Given the description of an element on the screen output the (x, y) to click on. 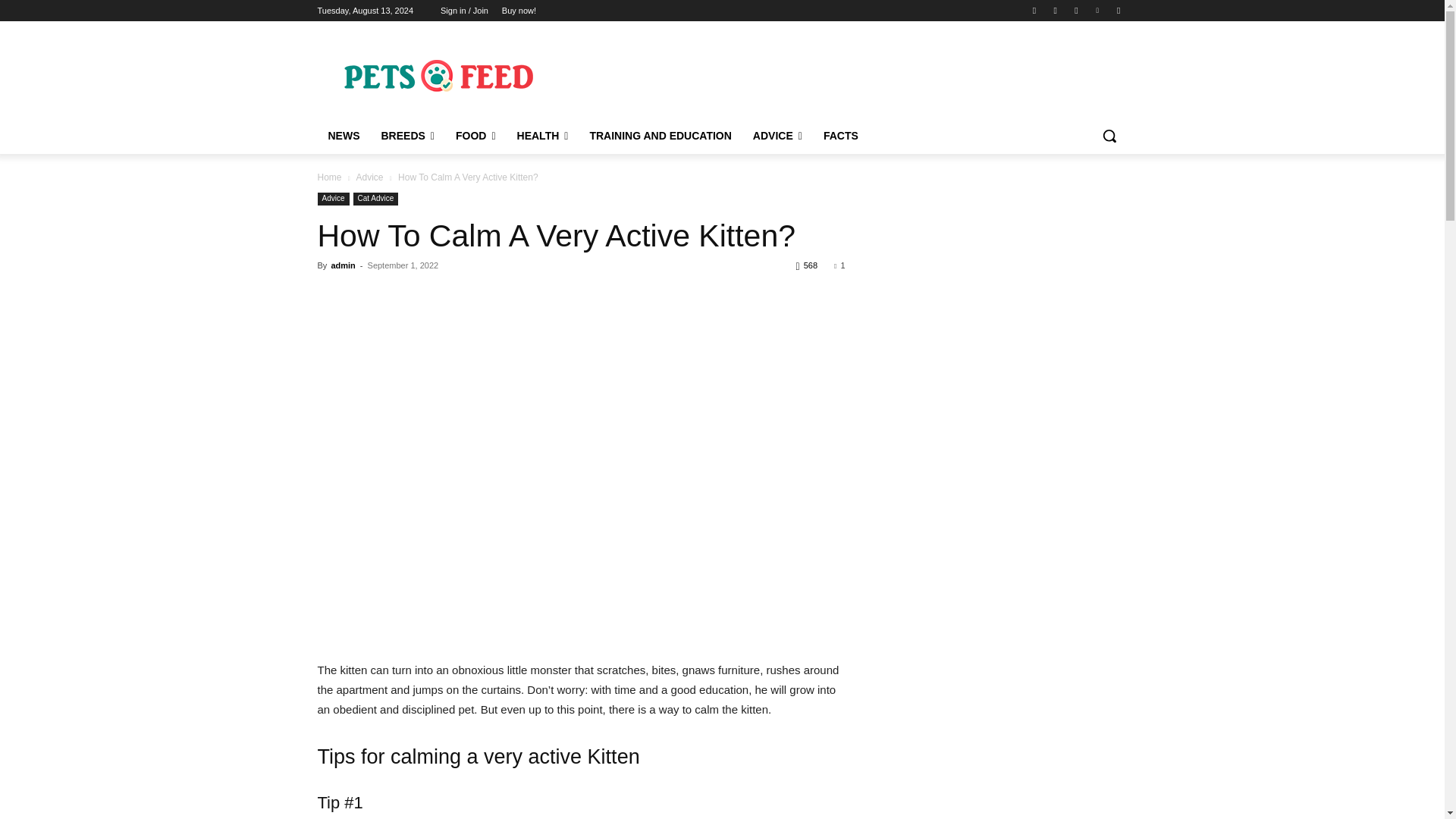
Twitter (1075, 9)
Facebook (1034, 9)
Buy now! (518, 10)
FOOD (475, 135)
BREEDS (406, 135)
Youtube (1117, 9)
Vimeo (1097, 9)
HEALTH (542, 135)
Instagram (1055, 9)
NEWS (343, 135)
